Given the description of an element on the screen output the (x, y) to click on. 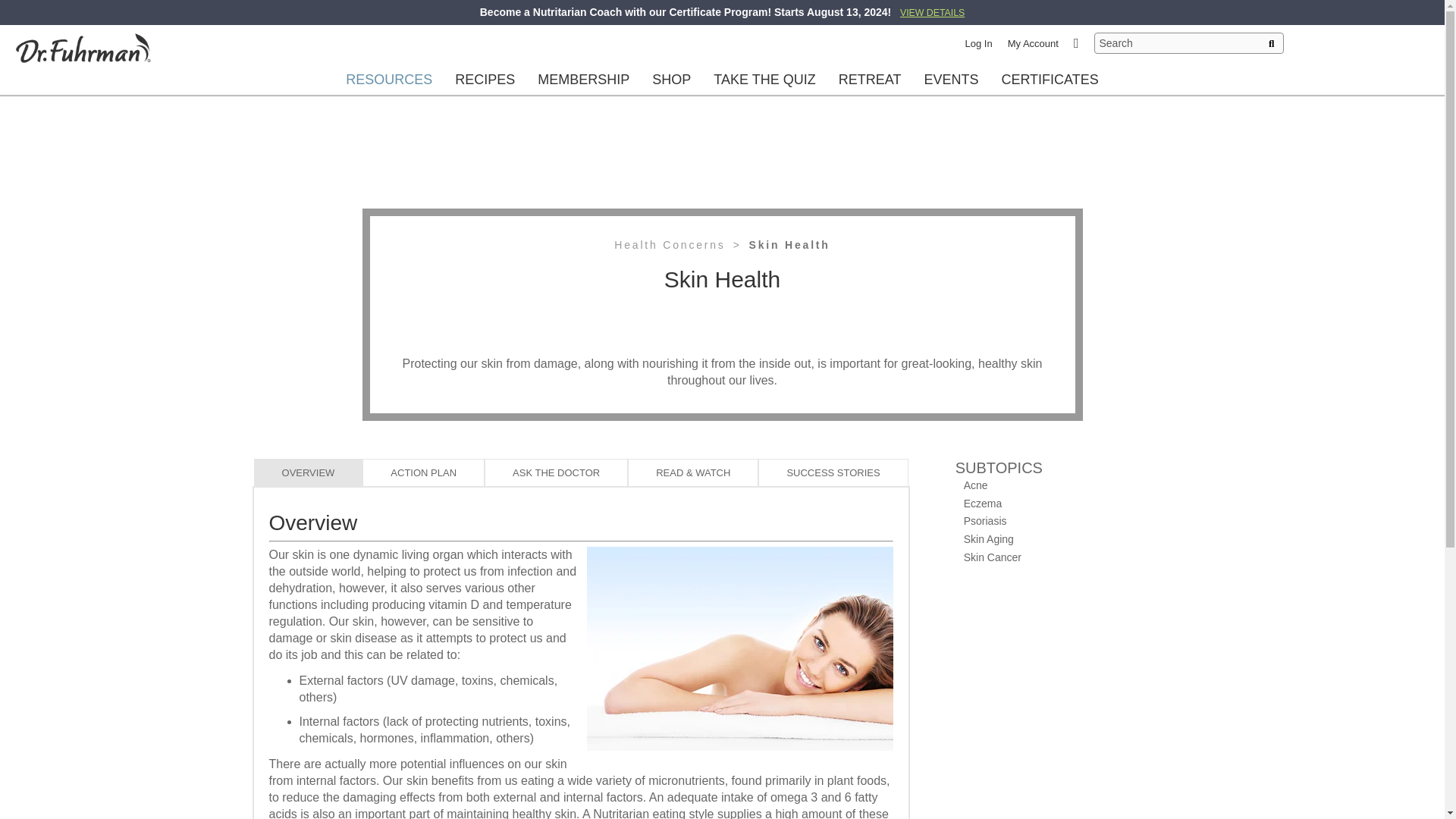
TAKE THE QUIZ (764, 79)
MEMBERSHIP (583, 79)
RETREAT (869, 79)
Log In (978, 43)
EVENTS (950, 79)
SHOP (670, 79)
VIEW DETAILS (931, 11)
My Account (1032, 43)
